Given the description of an element on the screen output the (x, y) to click on. 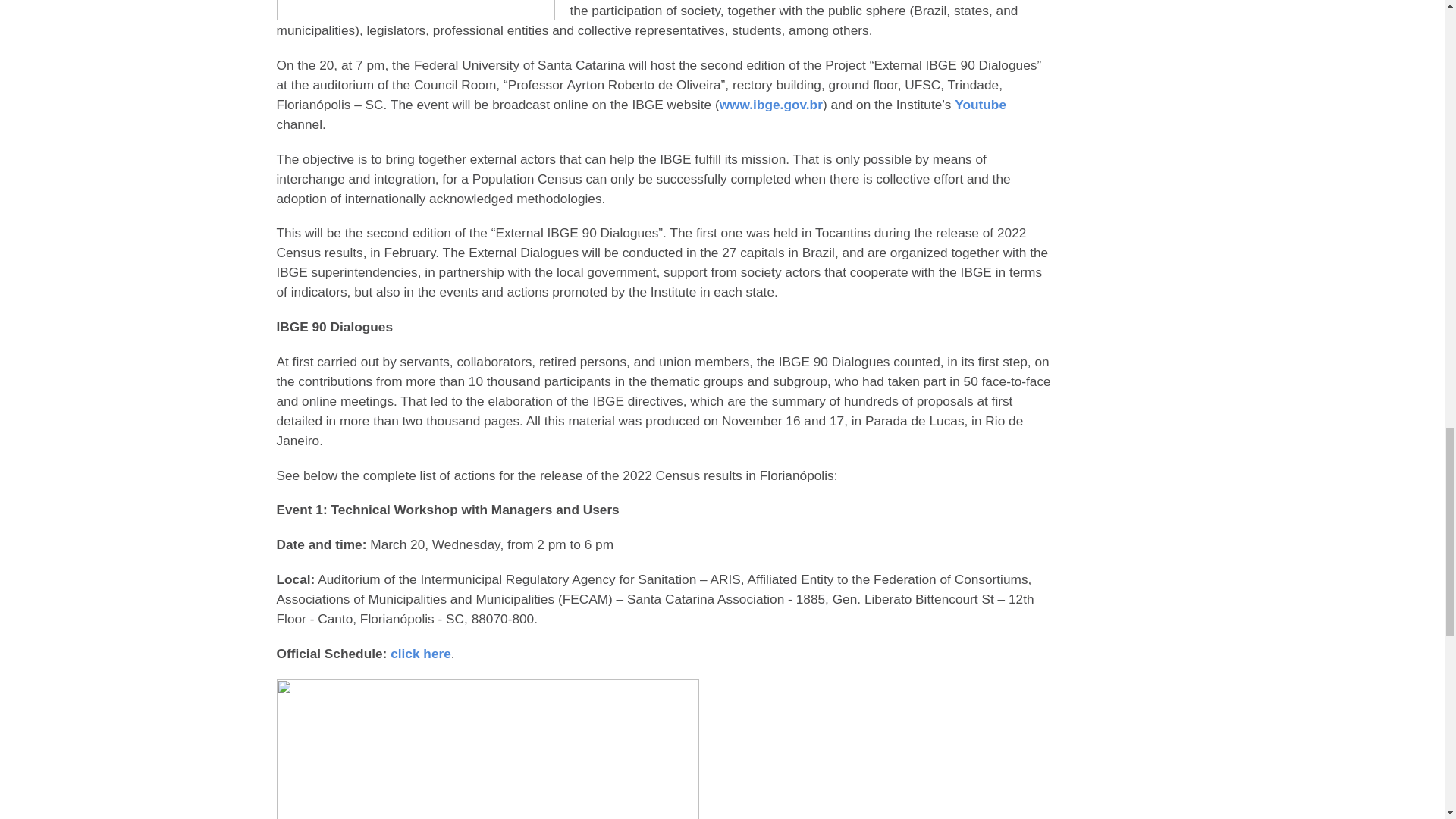
click here (420, 653)
www.ibge.gov.br (770, 104)
Youtube (980, 104)
